Given the description of an element on the screen output the (x, y) to click on. 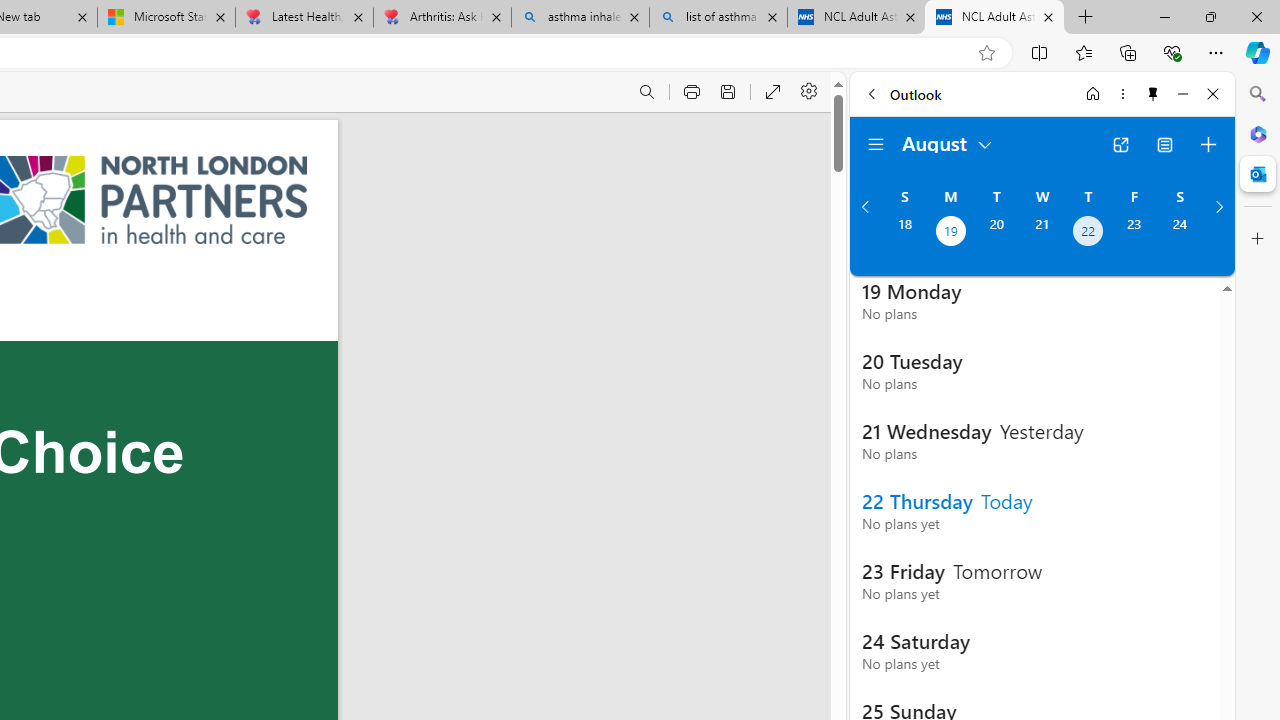
Enter PDF full screen (773, 92)
Find (Ctrl + F) (646, 92)
View Switcher. Current view is Agenda view (1165, 144)
Print (Ctrl+P) (692, 92)
Thursday, August 22, 2024. Today.  (1088, 233)
list of asthma inhalers uk - Search (718, 17)
asthma inhaler - Search (580, 17)
